Given the description of an element on the screen output the (x, y) to click on. 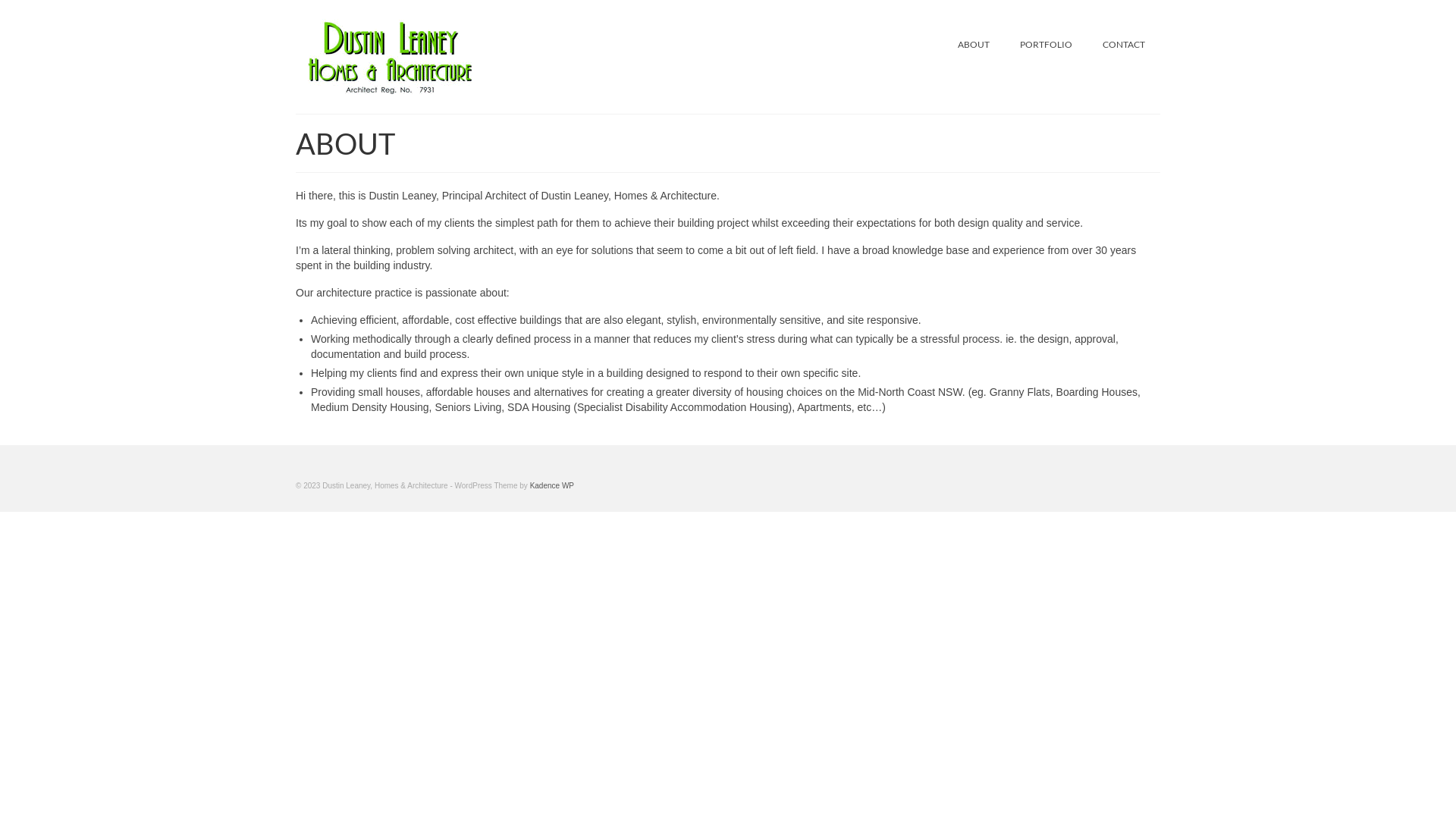
ABOUT Element type: text (973, 44)
Kadence WP Element type: text (552, 485)
PORTFOLIO Element type: text (1045, 44)
CONTACT Element type: text (1123, 44)
